Given the description of an element on the screen output the (x, y) to click on. 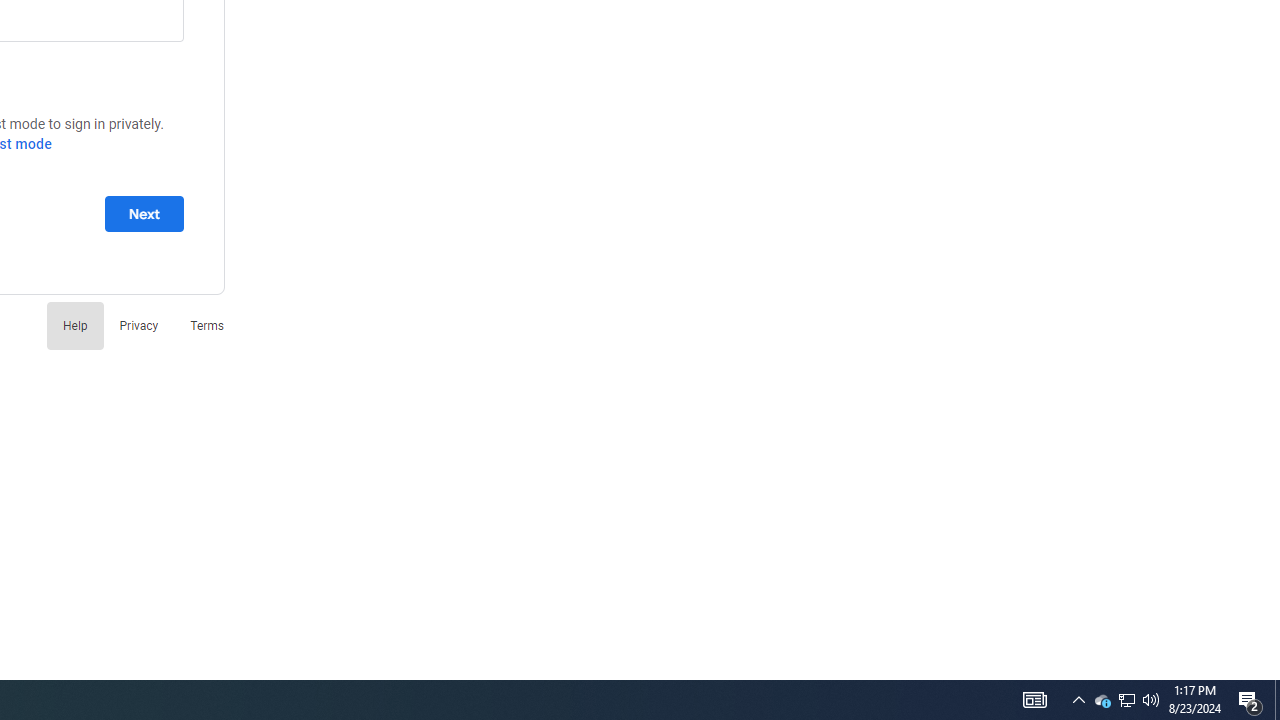
Help (74, 324)
Privacy (138, 324)
Next (143, 213)
